Given the description of an element on the screen output the (x, y) to click on. 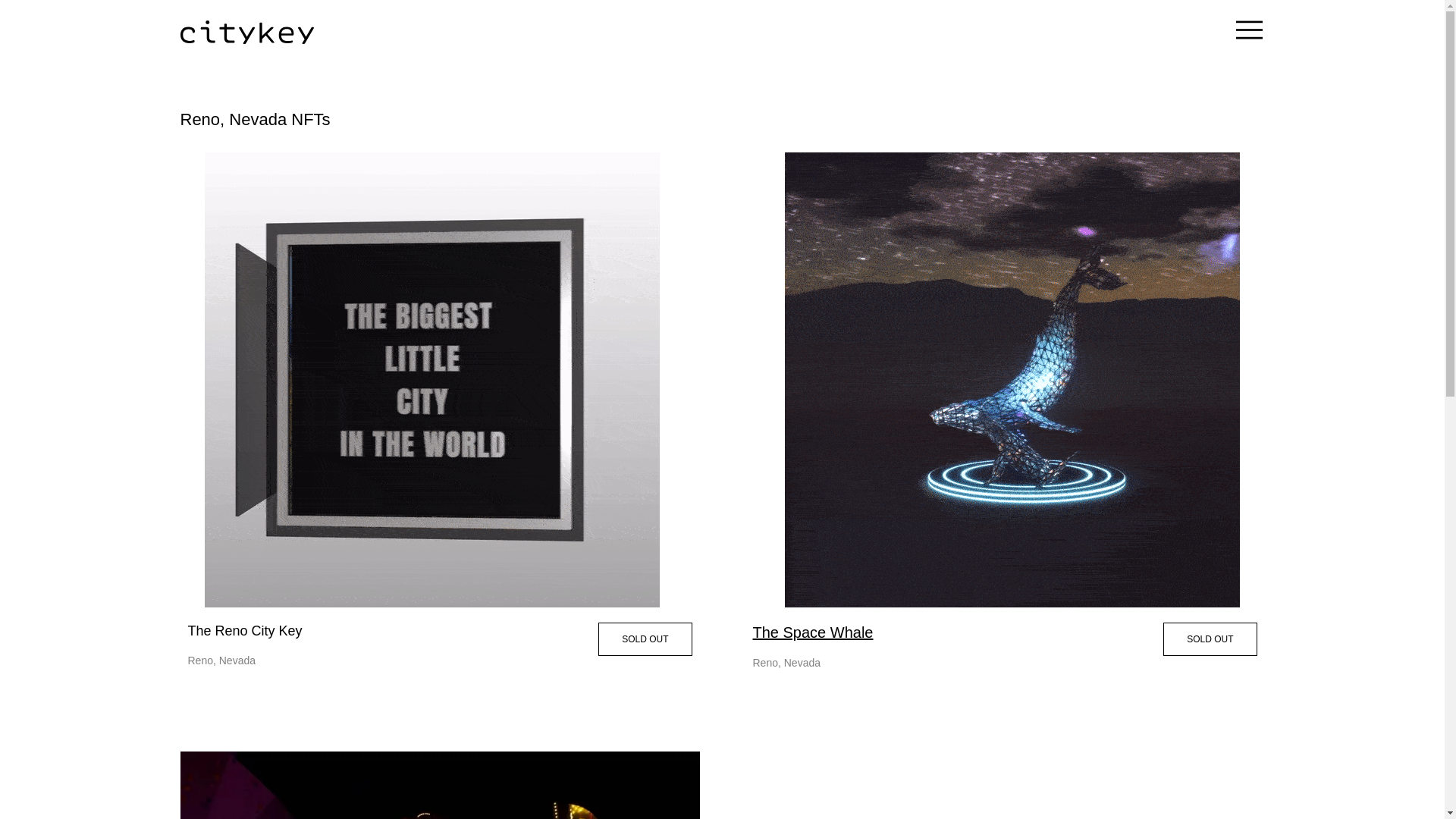
SOLD OUT (1209, 639)
SOLD OUT (644, 639)
The Space Whale (812, 632)
